Given the description of an element on the screen output the (x, y) to click on. 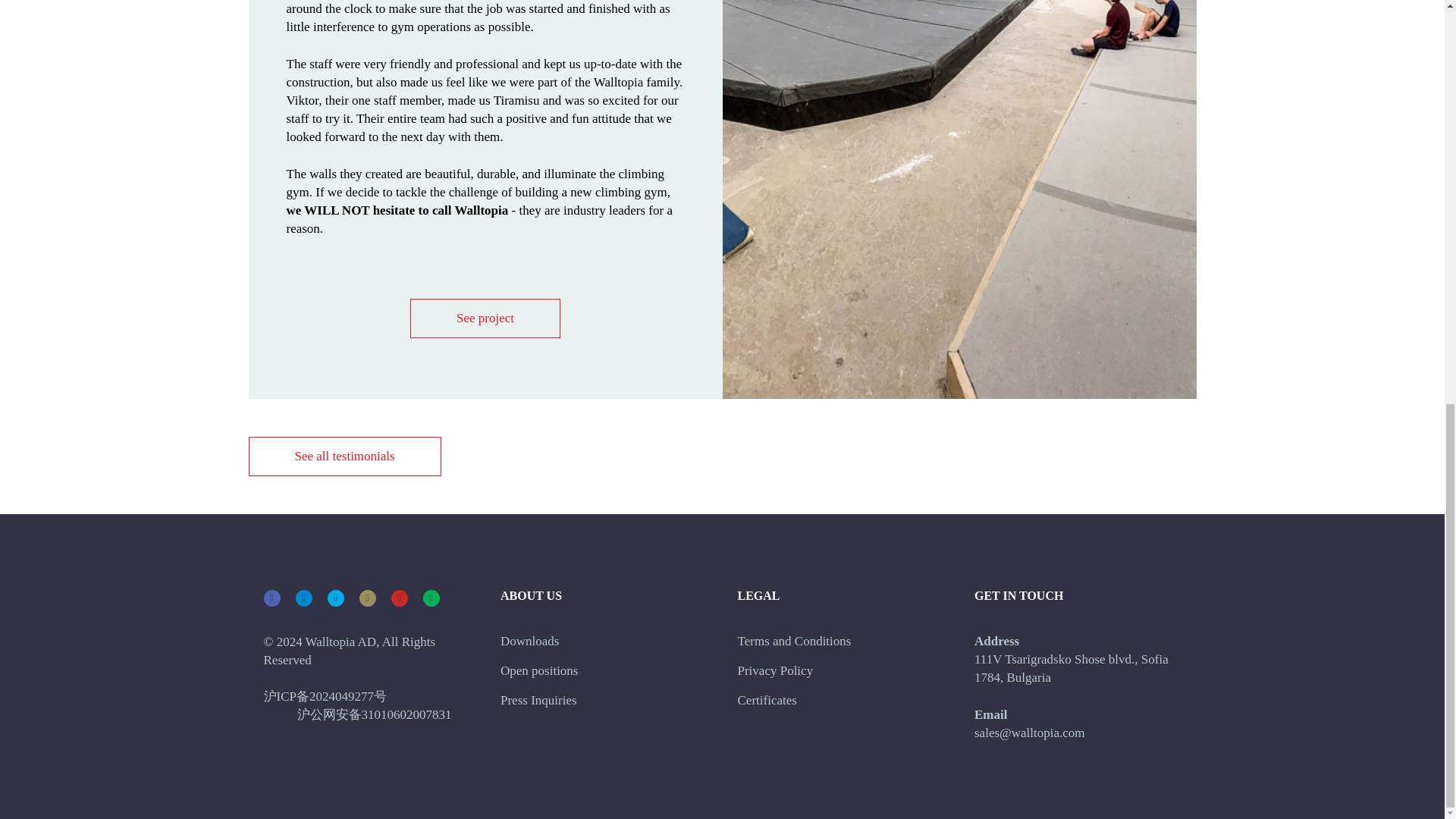
Instagram (367, 597)
Facebook (272, 597)
Twitter (335, 597)
YouTube (399, 597)
Linkedin (304, 597)
WeChat (431, 597)
